Given the description of an element on the screen output the (x, y) to click on. 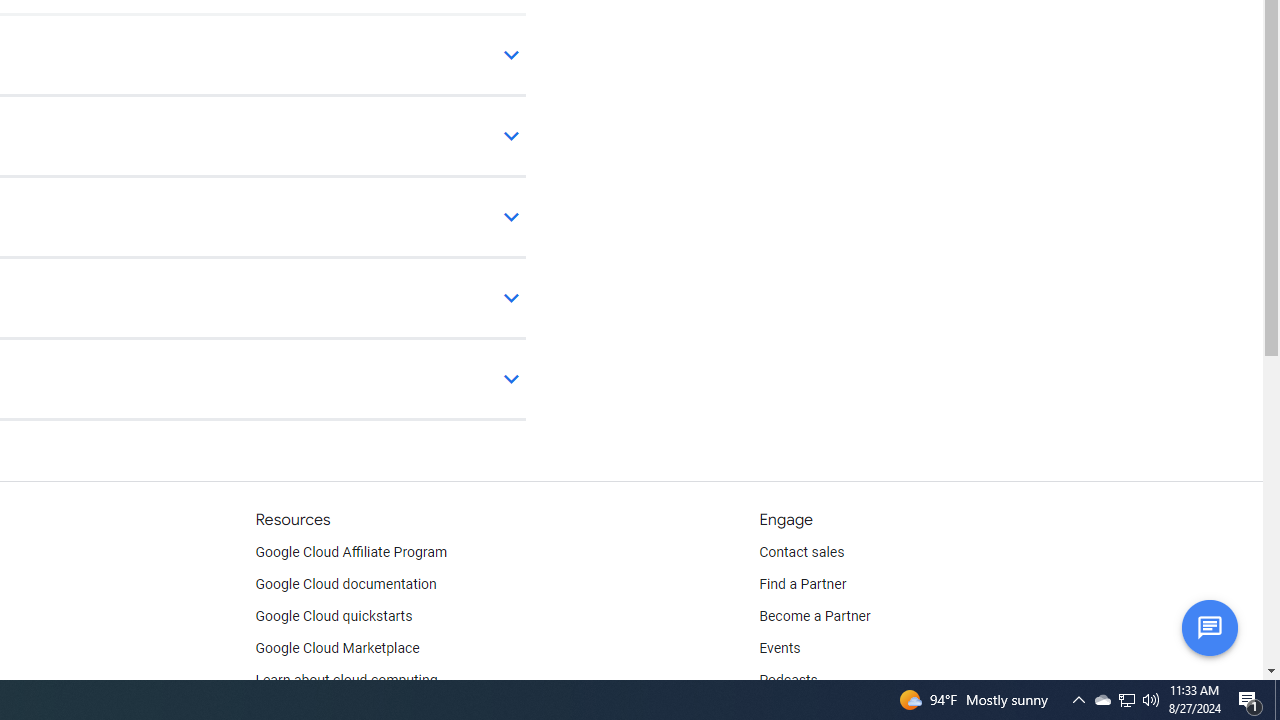
Learn about cloud computing (345, 680)
Become a Partner (814, 616)
Events (780, 648)
Find a Partner (803, 584)
Podcasts (788, 680)
Google Cloud Affiliate Program (351, 552)
Google Cloud Marketplace (336, 648)
Contact sales (801, 552)
Google Cloud documentation (345, 584)
Google Cloud quickstarts (333, 616)
Button to activate chat (1209, 627)
